Given the description of an element on the screen output the (x, y) to click on. 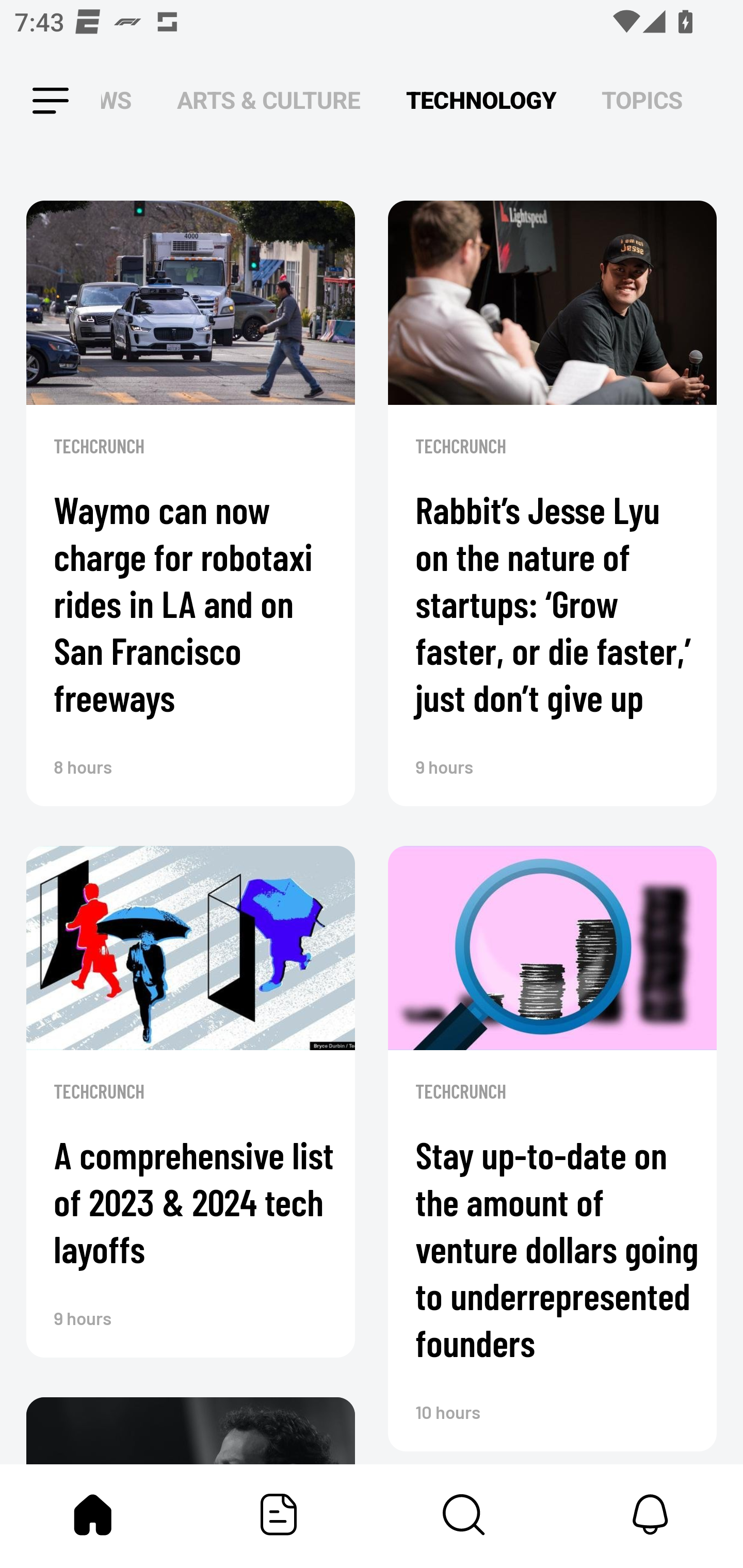
NEWS (121, 100)
ARTS & CULTURE (268, 100)
TOPICS (641, 100)
Featured (278, 1514)
Content Store (464, 1514)
Notifications (650, 1514)
